Given the description of an element on the screen output the (x, y) to click on. 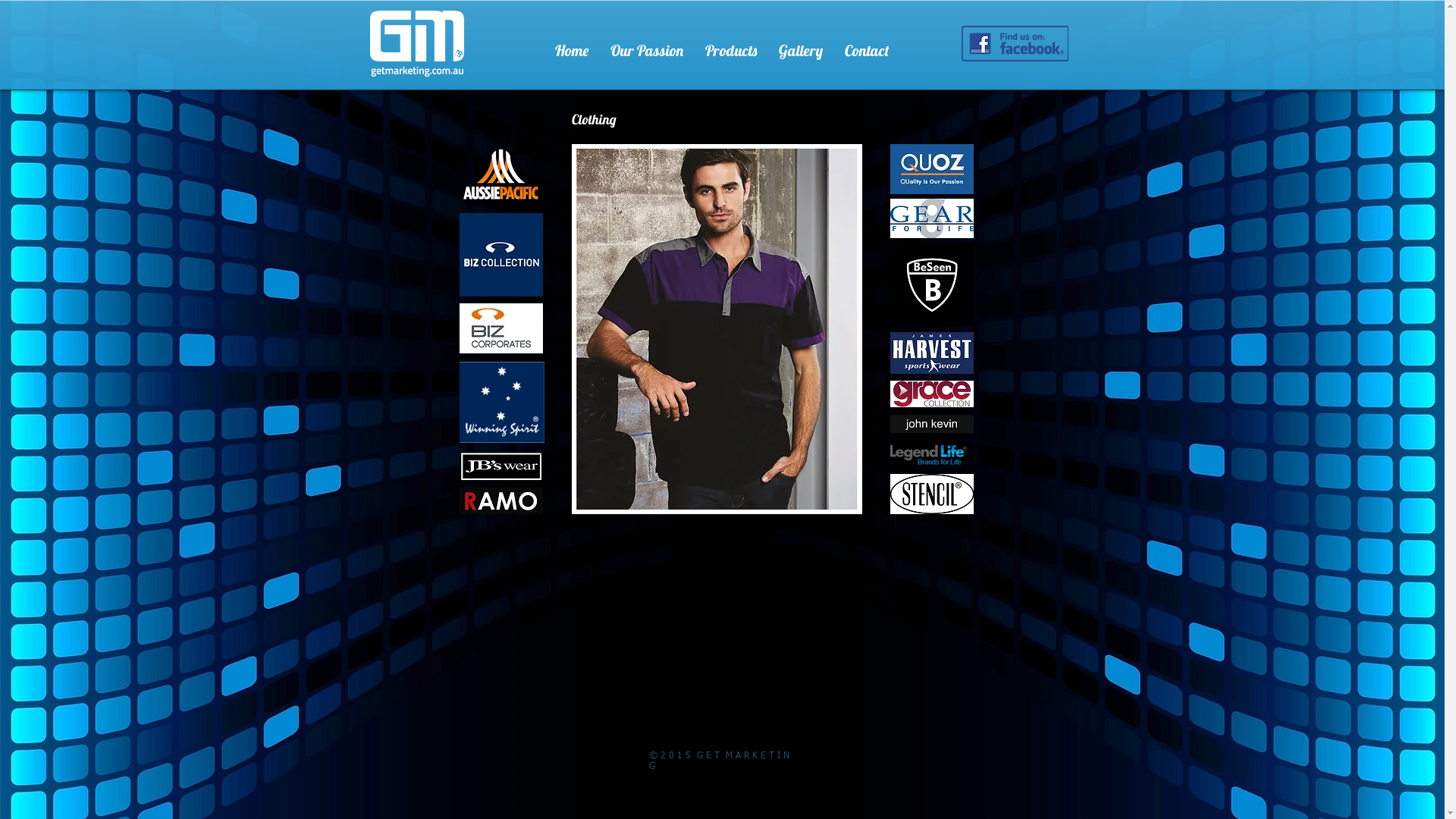
Contact Element type: text (867, 43)
Home Element type: text (571, 43)
Our Passion Element type: text (646, 43)
Gallery Element type: text (800, 43)
GM logo.png Element type: hover (417, 43)
Products Element type: text (731, 43)
